Given the description of an element on the screen output the (x, y) to click on. 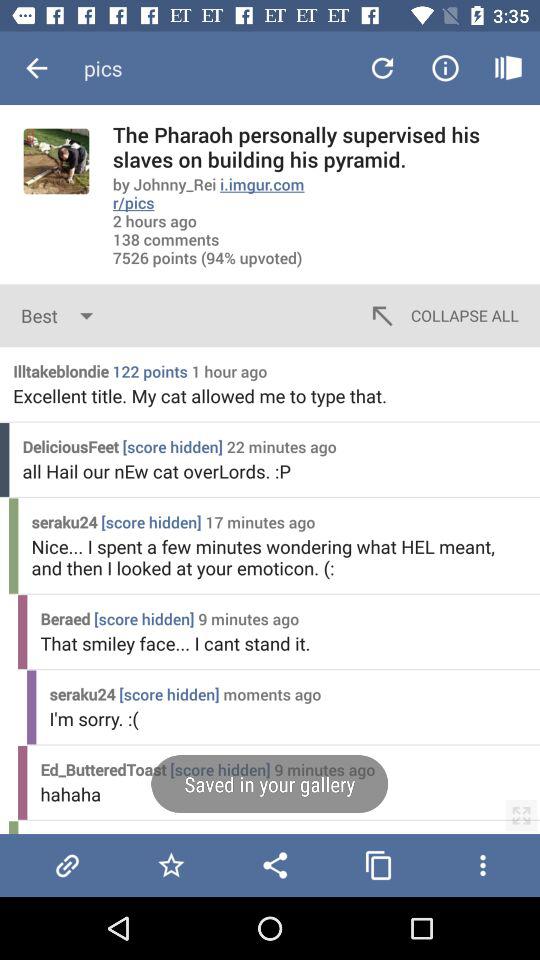
go to menu (482, 865)
